Given the description of an element on the screen output the (x, y) to click on. 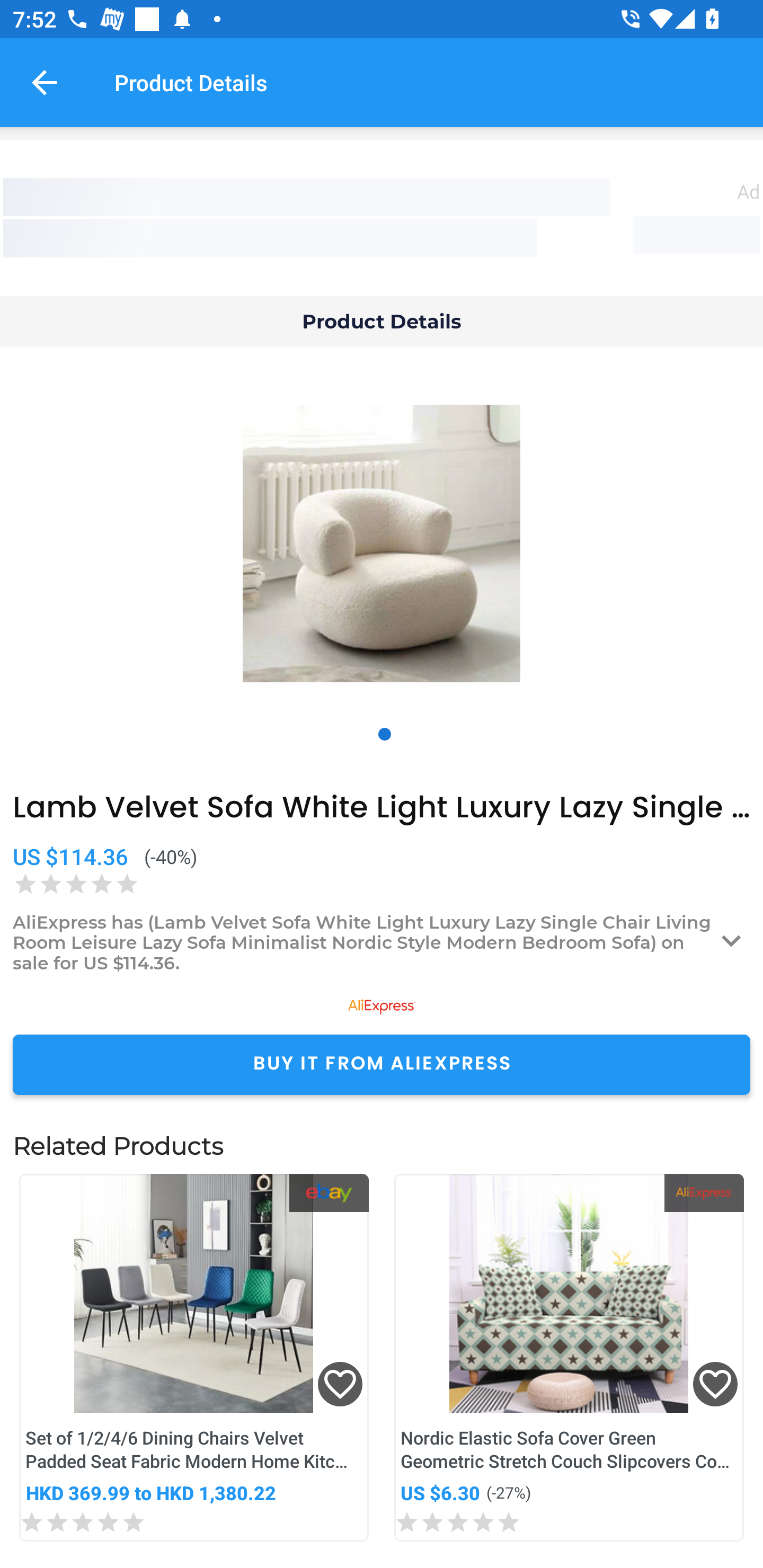
Navigate up (44, 82)
BUY IT FROM ALIEXPRESS (381, 1064)
